Given the description of an element on the screen output the (x, y) to click on. 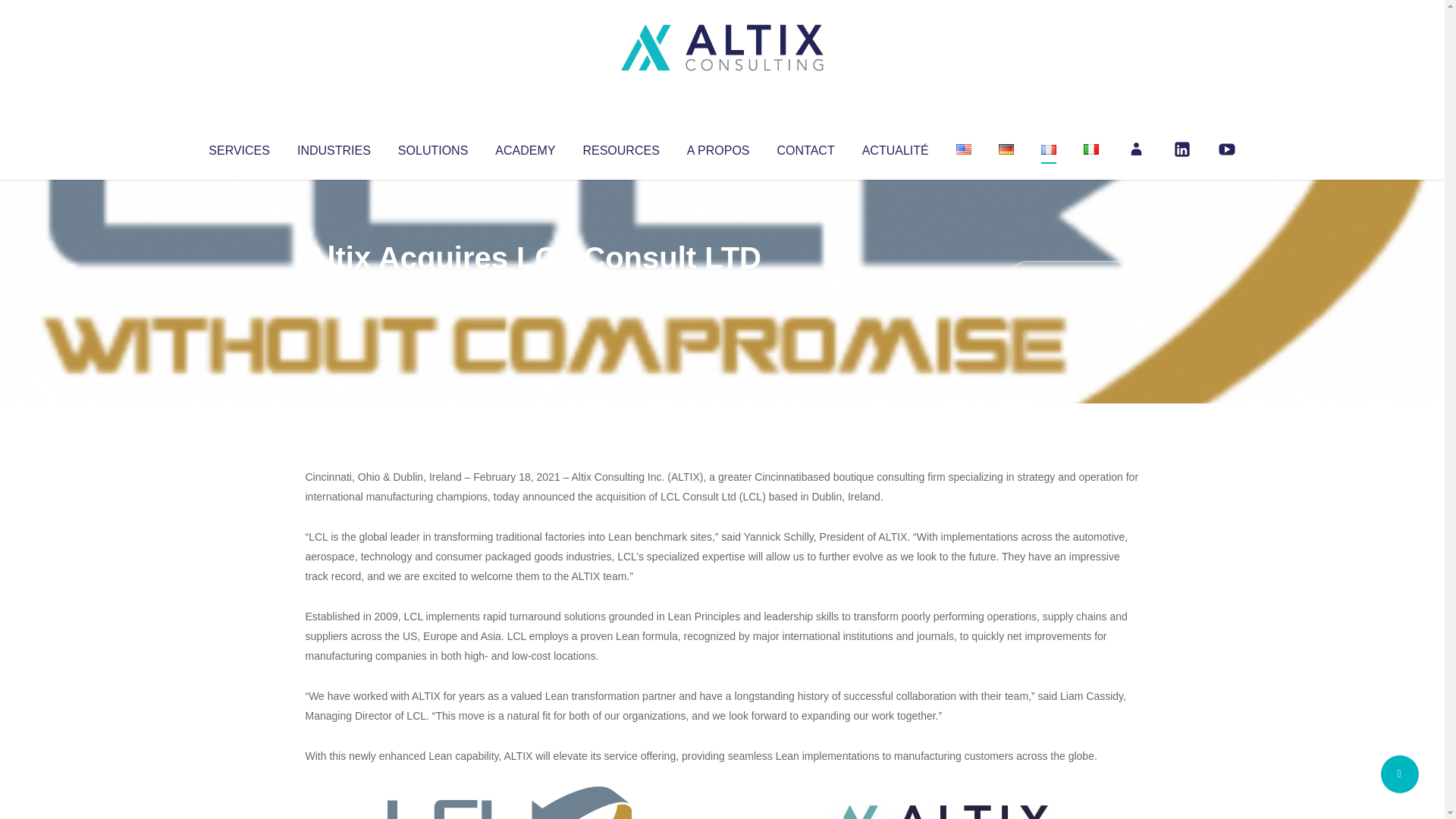
SOLUTIONS (432, 146)
Articles par Altix (333, 287)
No Comments (1073, 278)
SERVICES (238, 146)
ACADEMY (524, 146)
Uncategorized (530, 287)
Altix (333, 287)
A PROPOS (718, 146)
INDUSTRIES (334, 146)
RESOURCES (620, 146)
